Given the description of an element on the screen output the (x, y) to click on. 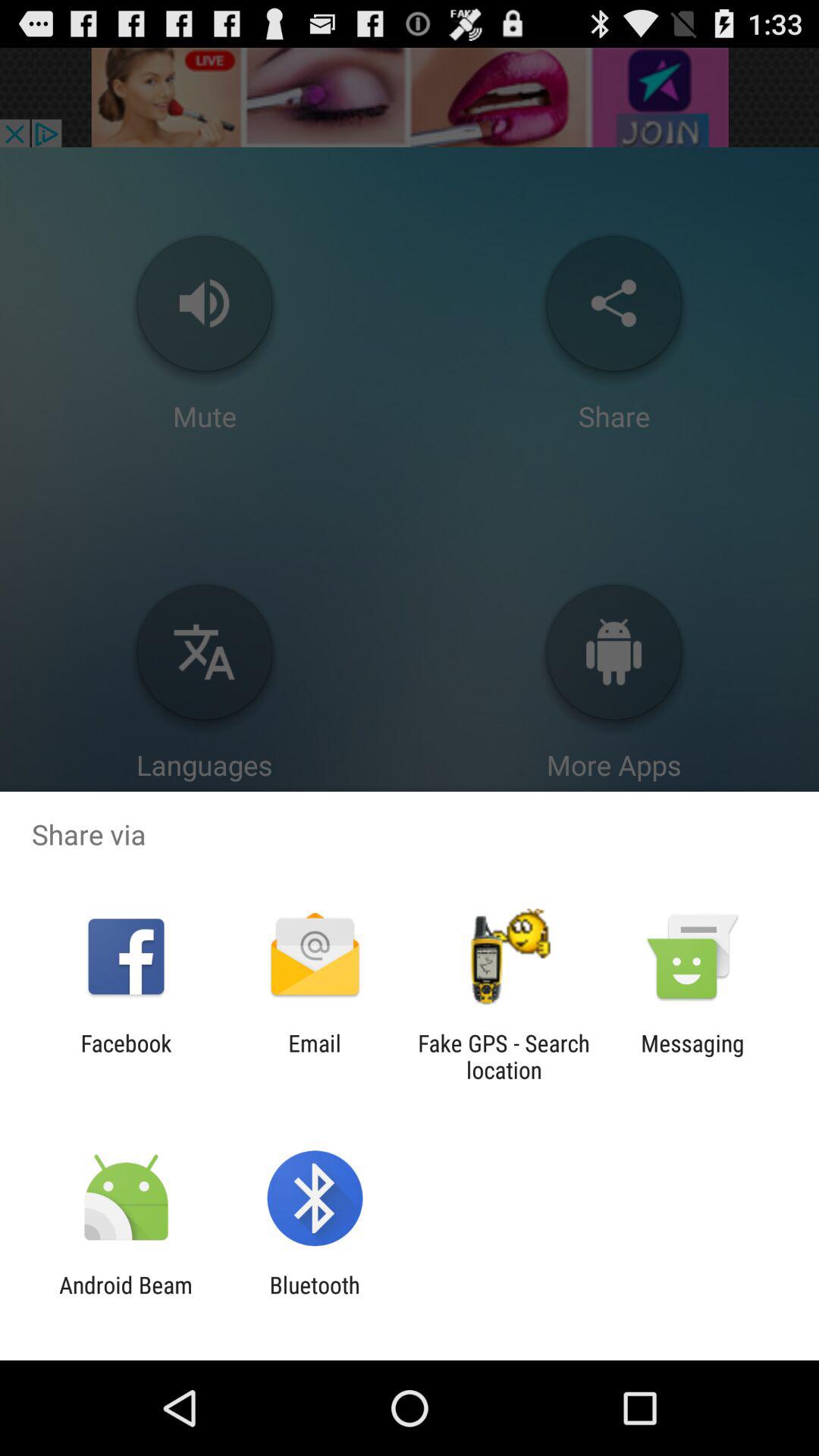
tap icon to the left of email app (125, 1056)
